Given the description of an element on the screen output the (x, y) to click on. 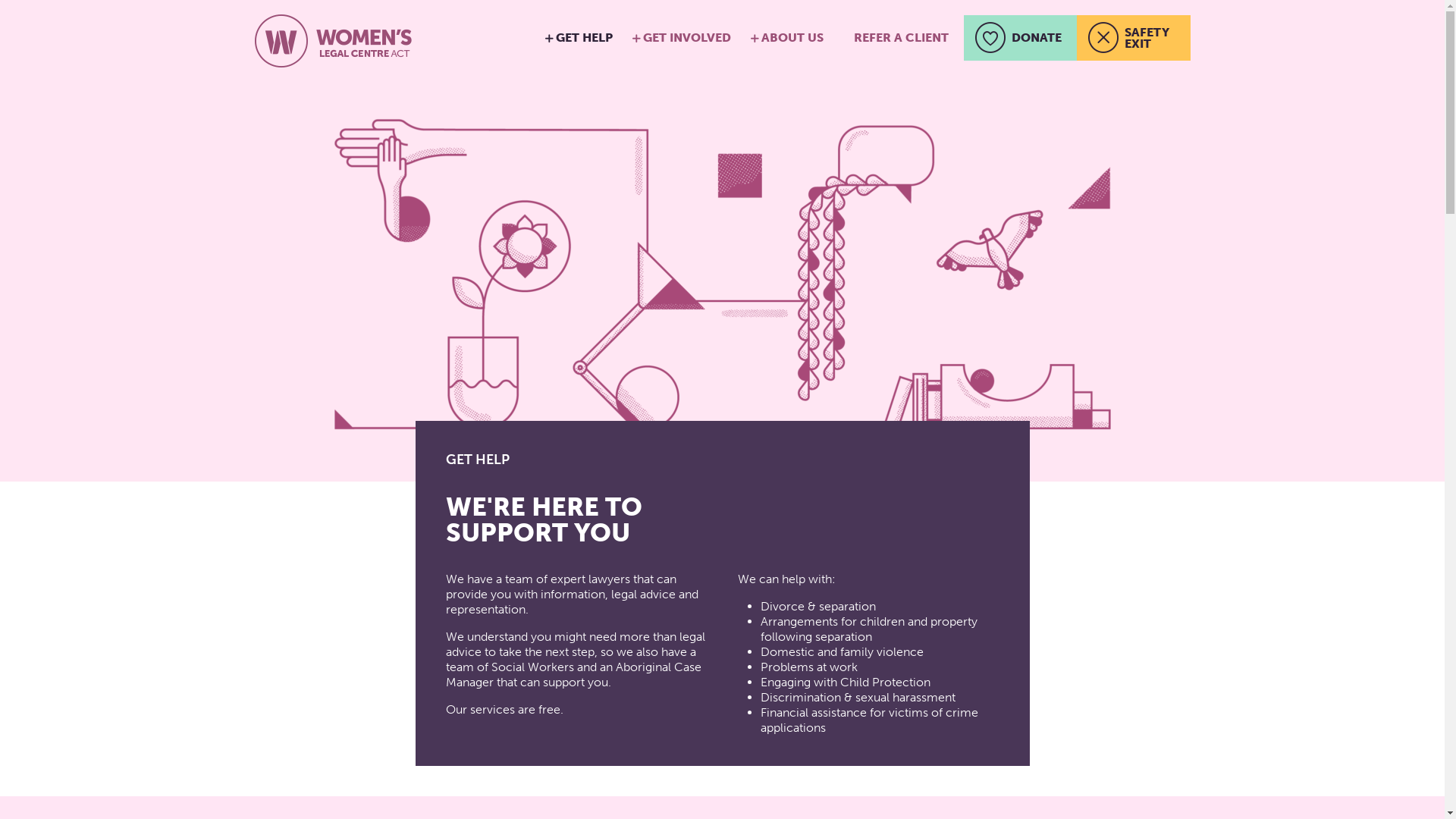
GET INVOLVED Element type: text (686, 37)
Women's legal centre (ACT) Element type: text (334, 41)
DONATE Element type: text (1019, 37)
SAFETY EXIT Element type: text (1133, 37)
REFER A CLIENT Element type: text (900, 37)
GET HELP Element type: text (583, 37)
ABOUT US Element type: text (792, 37)
